Given the description of an element on the screen output the (x, y) to click on. 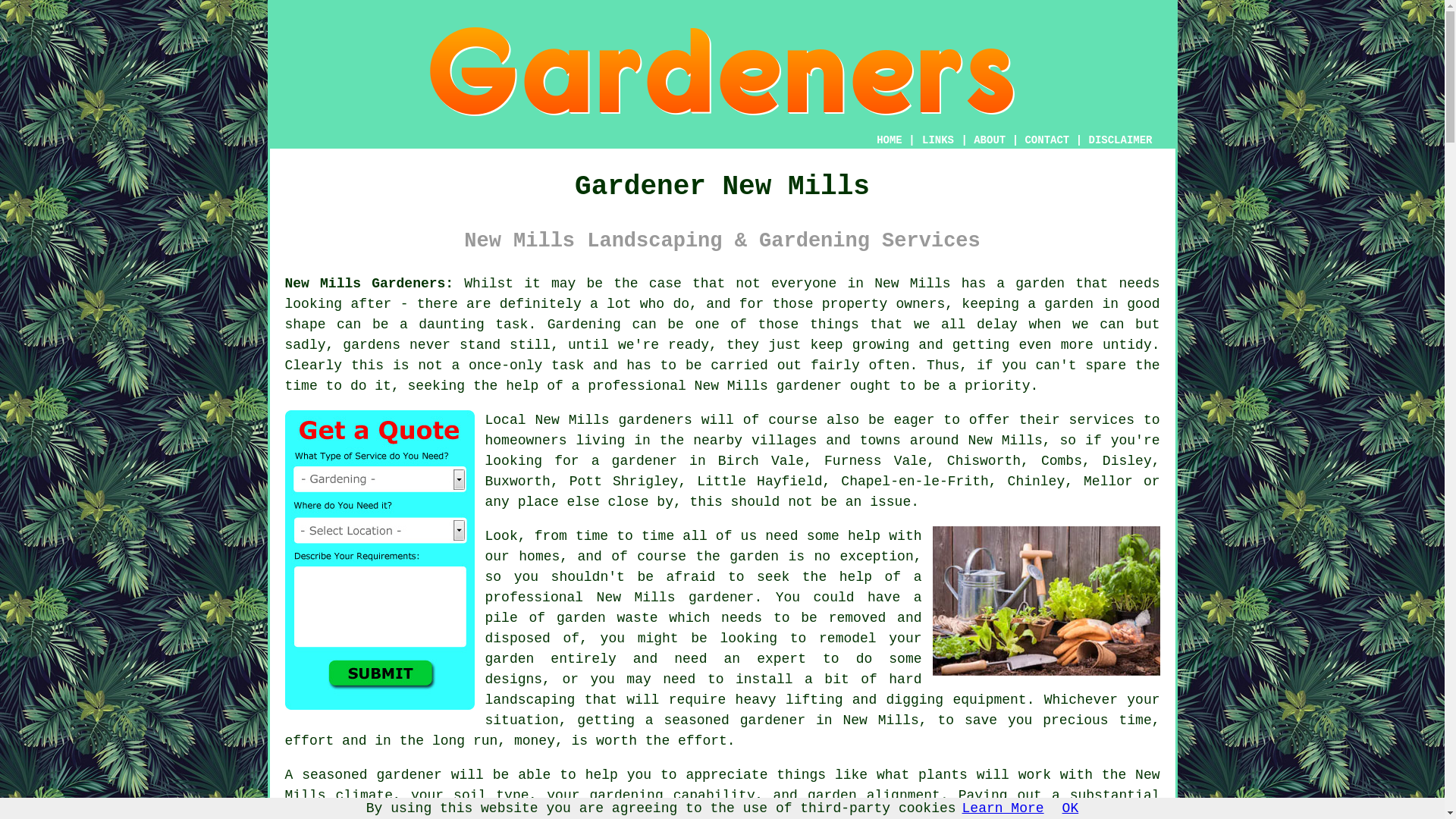
landscaping (529, 699)
garden (1068, 304)
gardener (721, 597)
LINKS (938, 140)
Gardener New Mills (722, 71)
gardener (772, 720)
gardener (808, 385)
Gardener New Mills (1046, 600)
Gardening (584, 324)
HOME (889, 140)
gardens (371, 344)
gardener (408, 774)
